Given the description of an element on the screen output the (x, y) to click on. 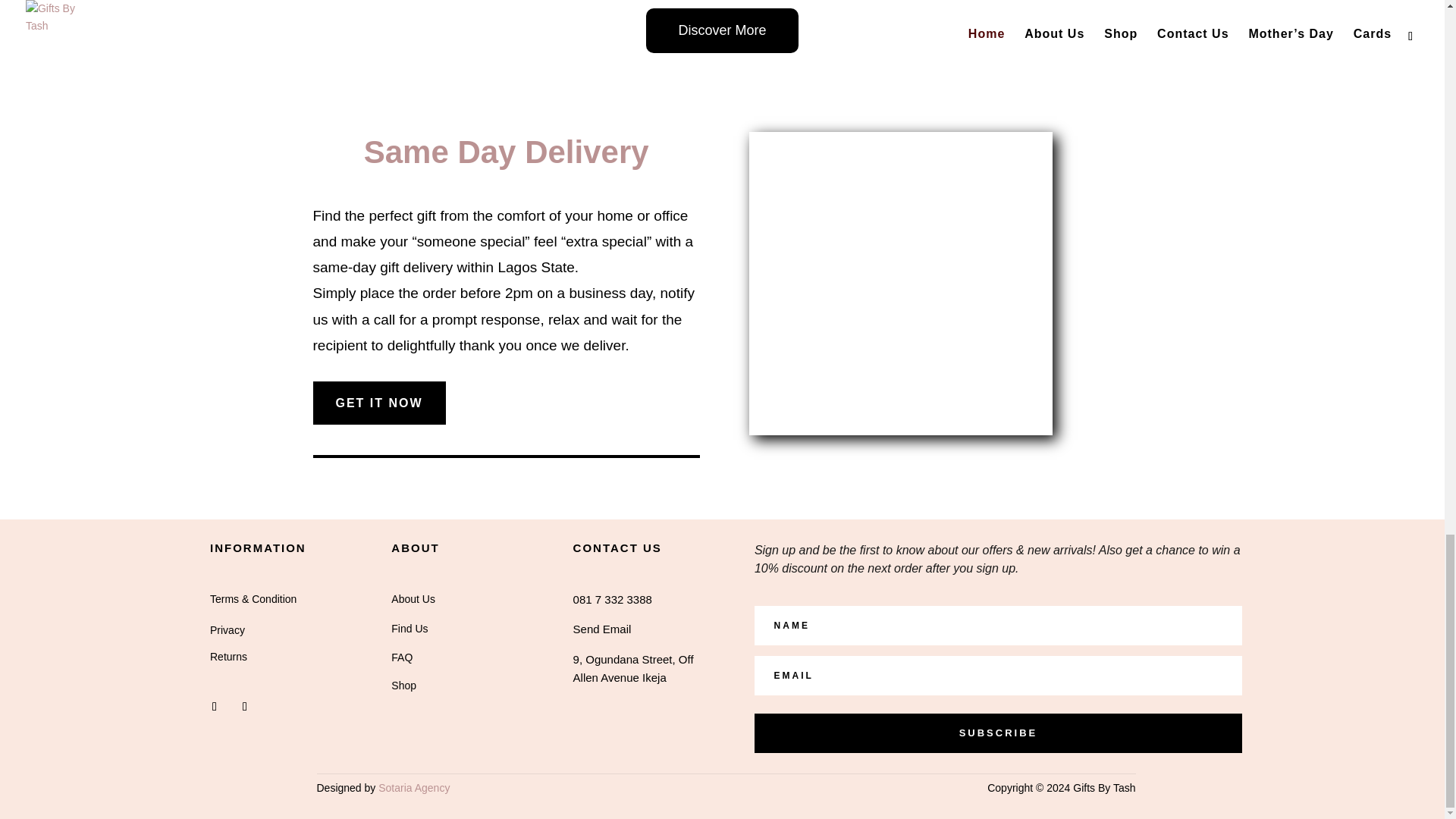
Privacy (226, 630)
Send Email (602, 628)
FAQ (401, 657)
About Us (413, 598)
Sotaria Agency (413, 787)
Discover More (721, 30)
GET IT NOW (379, 403)
Returns (228, 656)
081 7 332 3388 (612, 599)
SUBSCRIBE (997, 732)
